Given the description of an element on the screen output the (x, y) to click on. 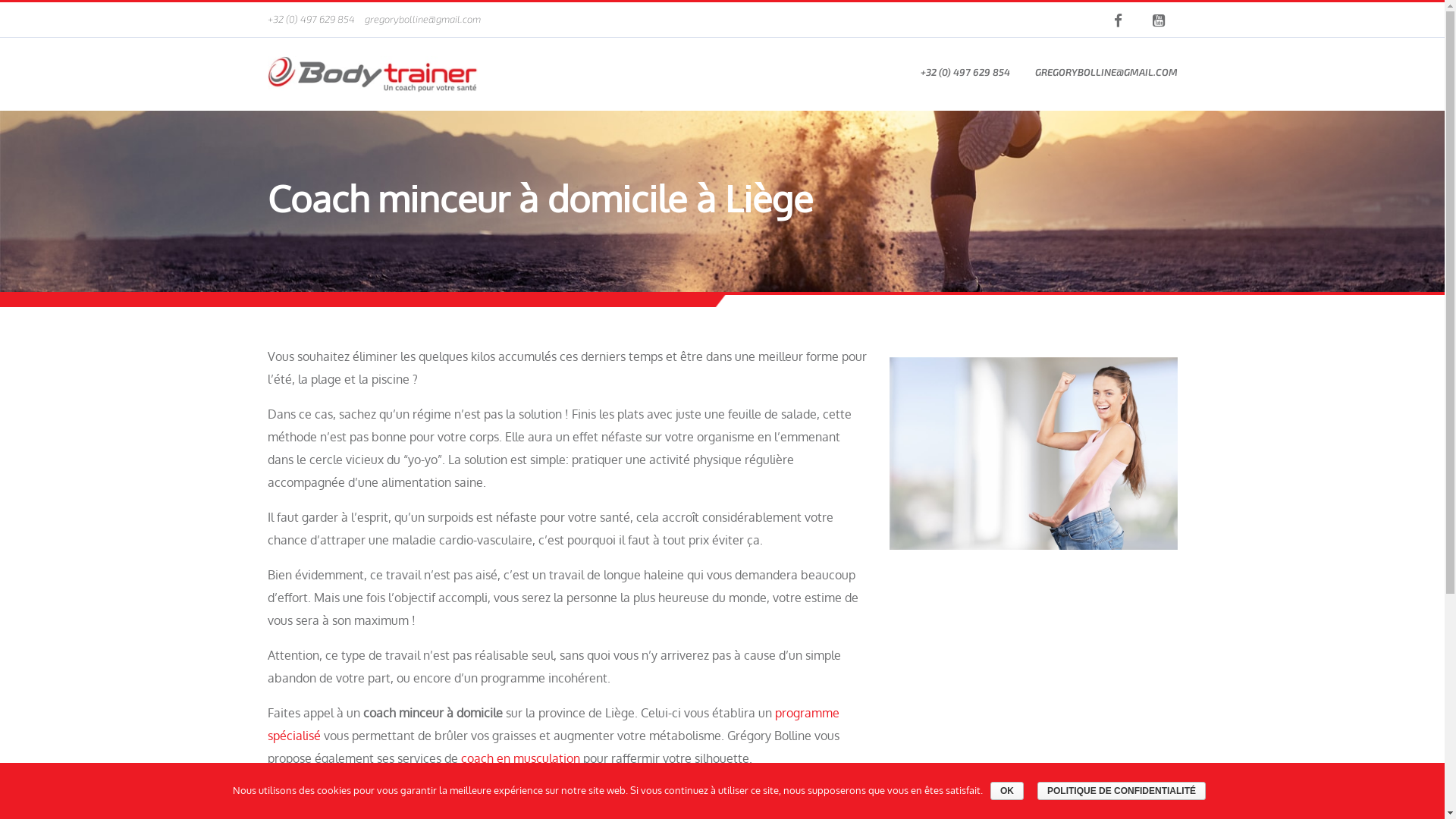
GREGORYBOLLINE@GMAIL.COM Element type: text (1105, 71)
Body Trainer Element type: hover (371, 73)
OK Element type: text (1006, 790)
coach en musculation Element type: text (520, 757)
+32 (0) 497 629 854 Element type: text (965, 71)
gregorybolline@gmail.com Element type: text (422, 18)
+32 (0) 497 629 854 Element type: text (310, 18)
